Given the description of an element on the screen output the (x, y) to click on. 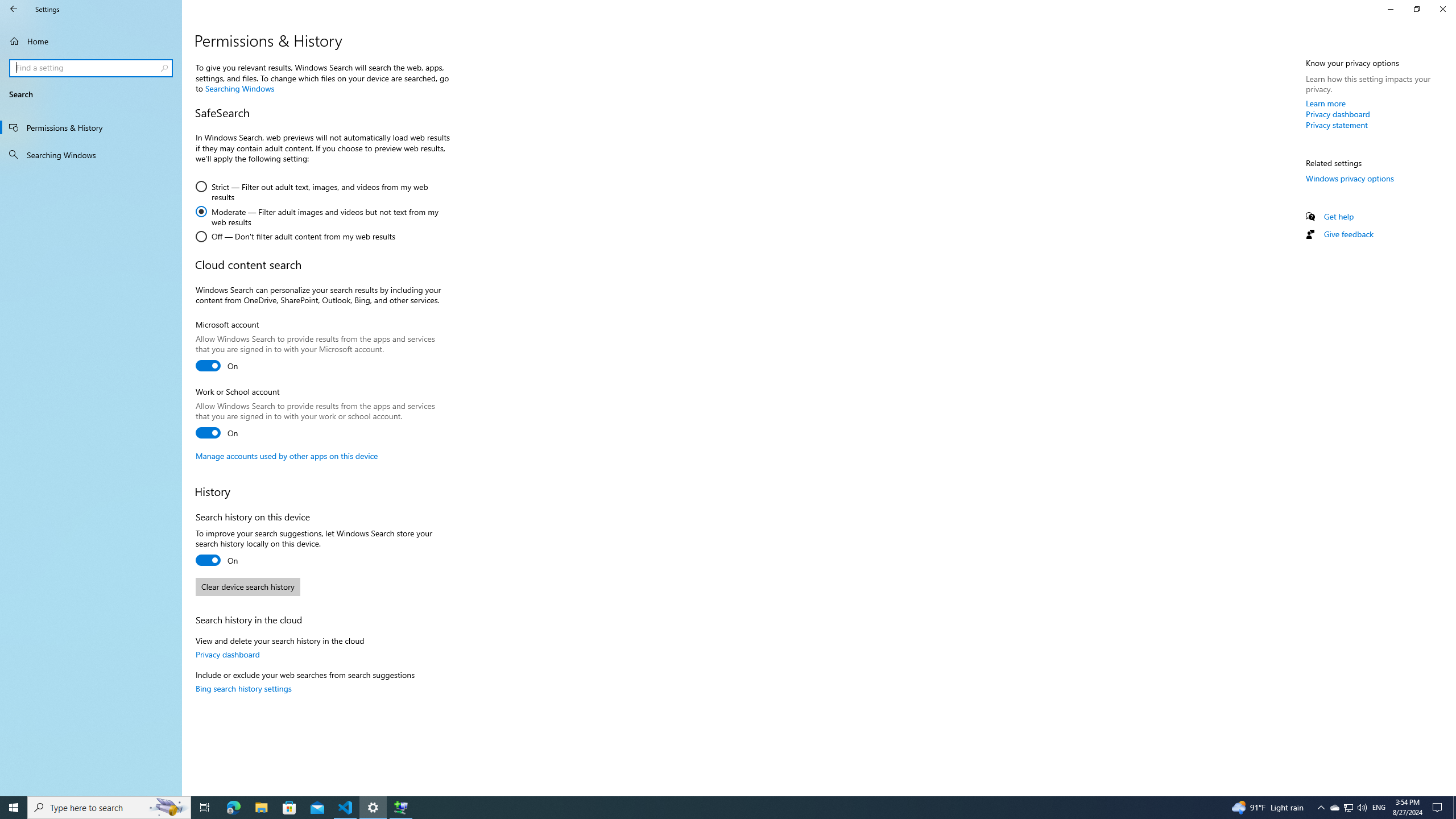
Windows privacy options (1349, 177)
Running applications (706, 807)
Searching Windows (240, 88)
Clear device search history (247, 587)
Give feedback (1348, 233)
Privacy statement (1336, 124)
Privacy dashboard (1338, 113)
